Given the description of an element on the screen output the (x, y) to click on. 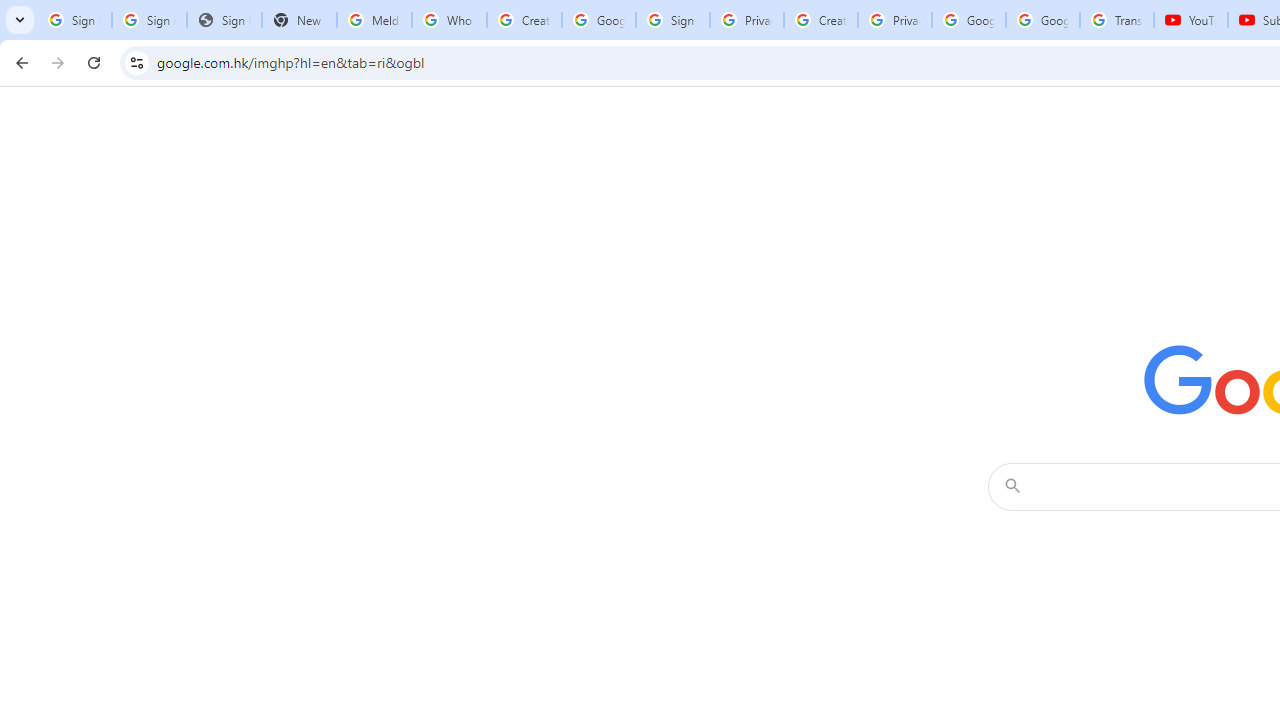
Create your Google Account (523, 20)
System (10, 11)
Forward (57, 62)
Who is my administrator? - Google Account Help (449, 20)
Sign in - Google Accounts (74, 20)
Back (19, 62)
Reload (93, 62)
Create your Google Account (820, 20)
Sign In - USA TODAY (224, 20)
Sign in - Google Accounts (673, 20)
View site information (136, 62)
